Given the description of an element on the screen output the (x, y) to click on. 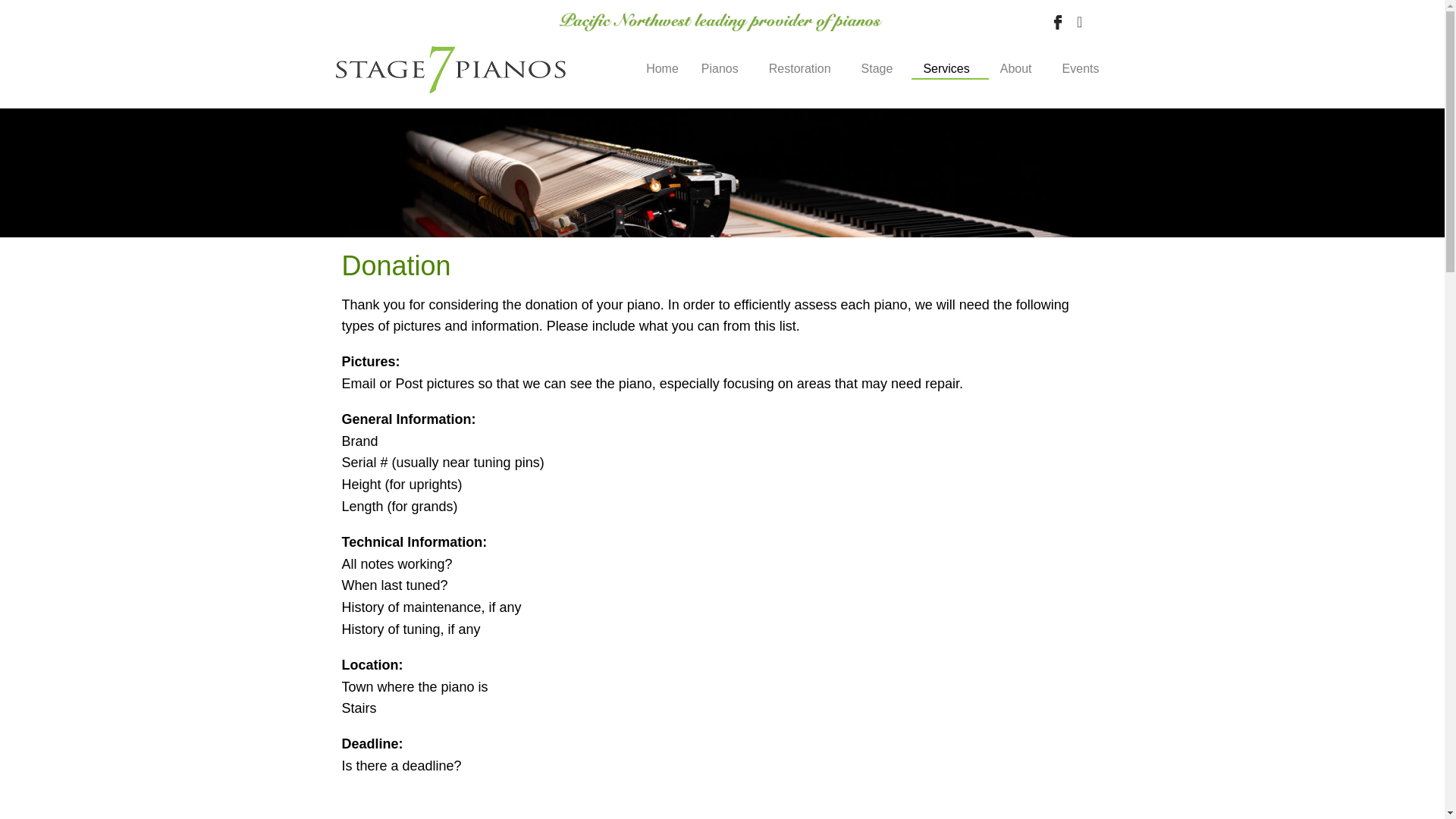
About (1019, 68)
Pianos (723, 68)
Stage (881, 68)
Services (949, 69)
Events (1080, 68)
Home (662, 68)
Restoration (803, 68)
